Given the description of an element on the screen output the (x, y) to click on. 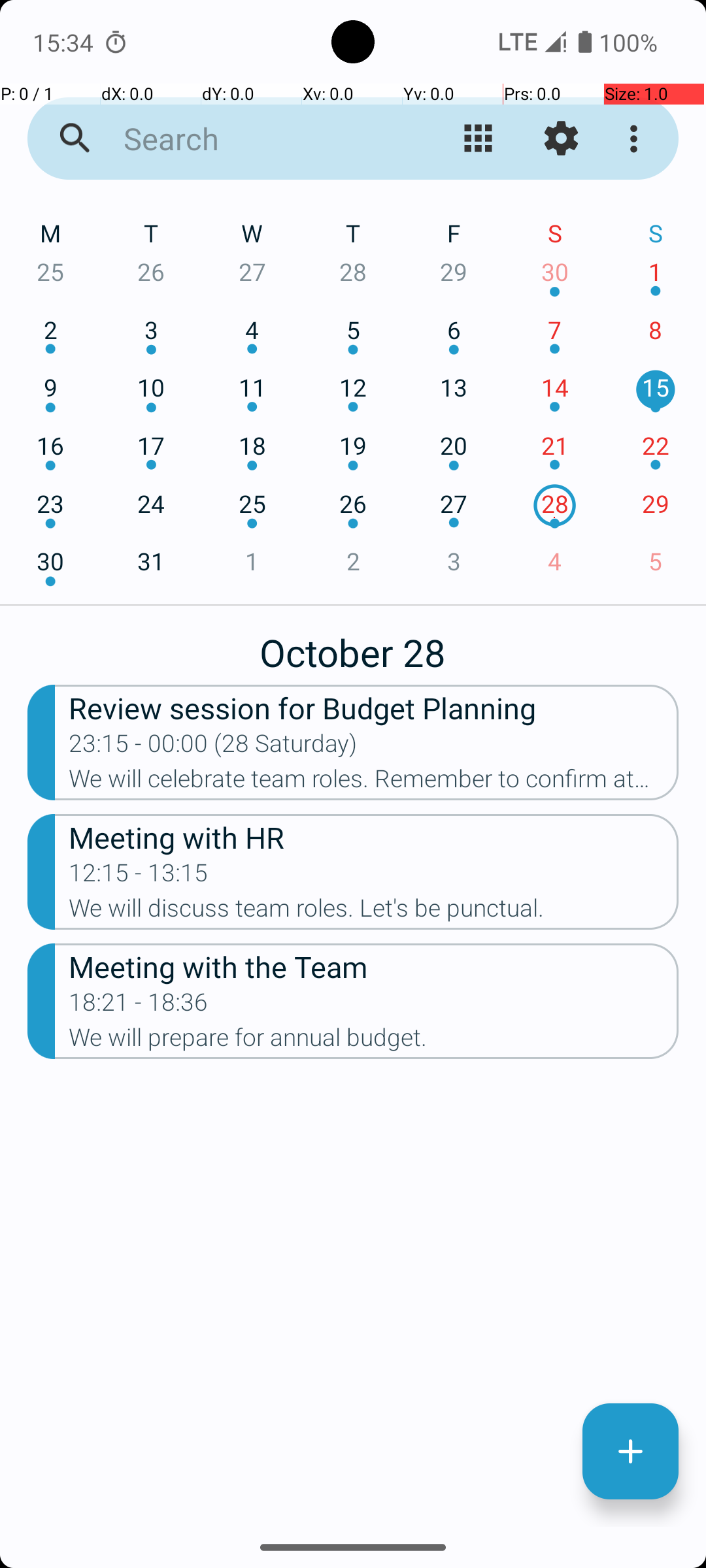
October 28 Element type: android.widget.TextView (352, 644)
23:15 - 00:00 (28 Saturday) Element type: android.widget.TextView (212, 747)
We will celebrate team roles. Remember to confirm attendance. Element type: android.widget.TextView (373, 782)
12:15 - 13:15 Element type: android.widget.TextView (137, 876)
We will discuss team roles. Let's be punctual. Element type: android.widget.TextView (373, 911)
18:21 - 18:36 Element type: android.widget.TextView (137, 1005)
We will prepare for annual budget. Element type: android.widget.TextView (373, 1041)
